Given the description of an element on the screen output the (x, y) to click on. 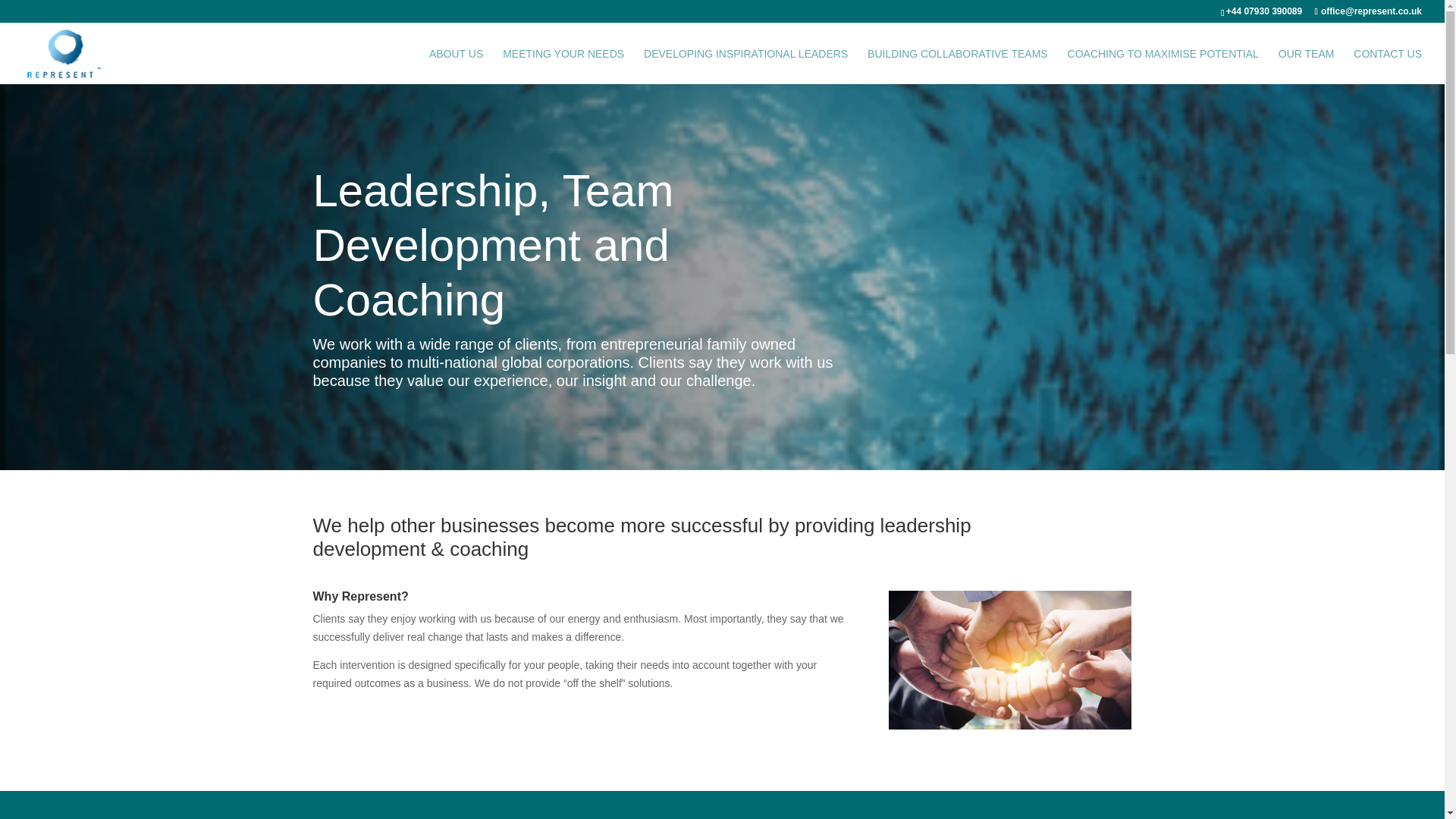
ABOUT US (456, 66)
BUILDING COLLABORATIVE TEAMS (957, 66)
COACHING TO MAXIMISE POTENTIAL (1163, 66)
CONTACT US (1388, 66)
DEVELOPING INSPIRATIONAL LEADERS (745, 66)
OUR TEAM (1306, 66)
Business people team joining hands. (1009, 659)
MEETING YOUR NEEDS (563, 66)
